Given the description of an element on the screen output the (x, y) to click on. 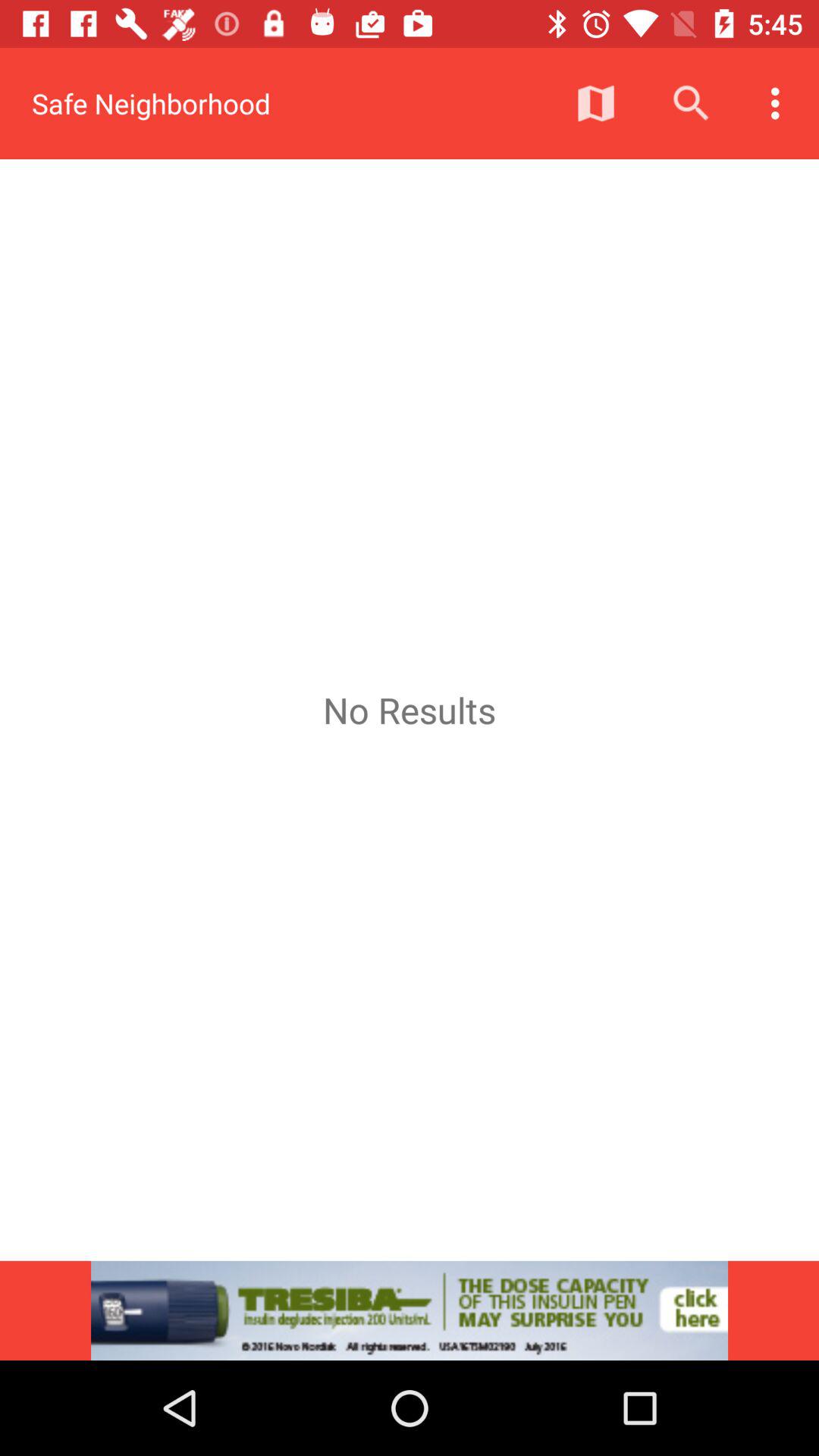
press item next to the safe neighborhood icon (595, 103)
